Given the description of an element on the screen output the (x, y) to click on. 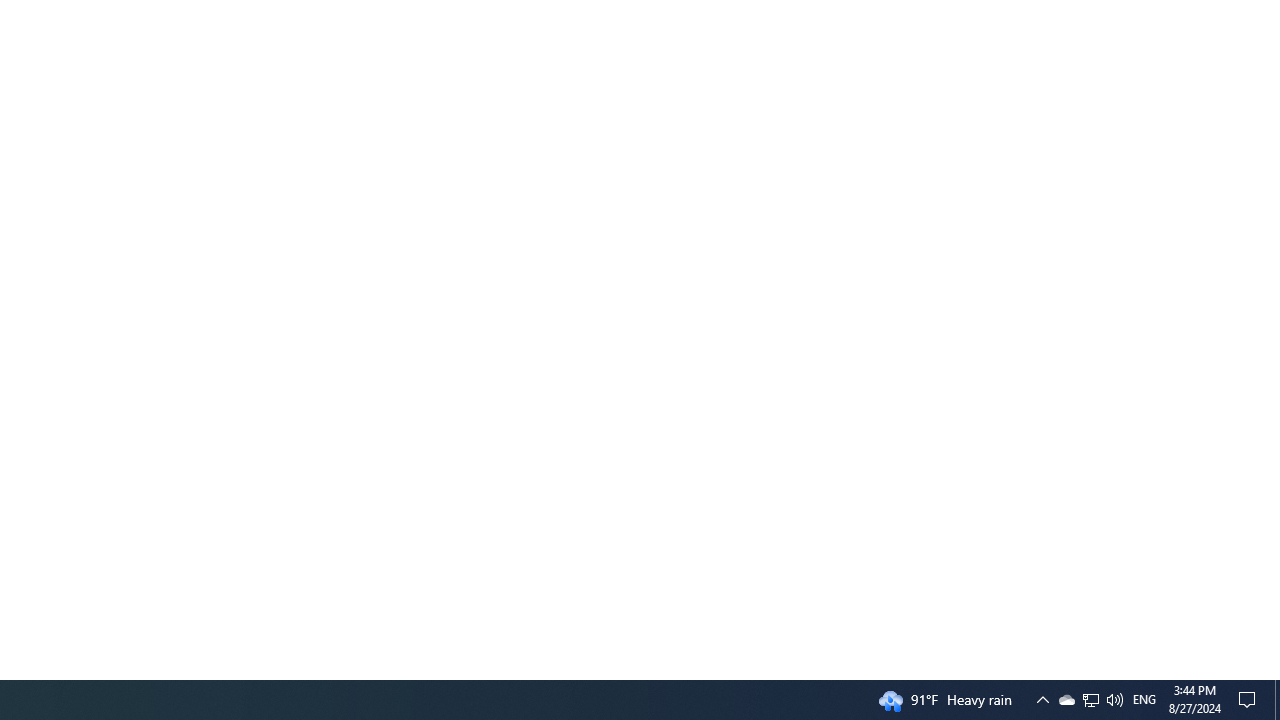
Action Center, No new notifications (1250, 699)
Q2790: 100% (1114, 699)
Tray Input Indicator - English (United States) (1144, 699)
Show desktop (1277, 699)
User Promoted Notification Area (1066, 699)
Notification Chevron (1090, 699)
